Given the description of an element on the screen output the (x, y) to click on. 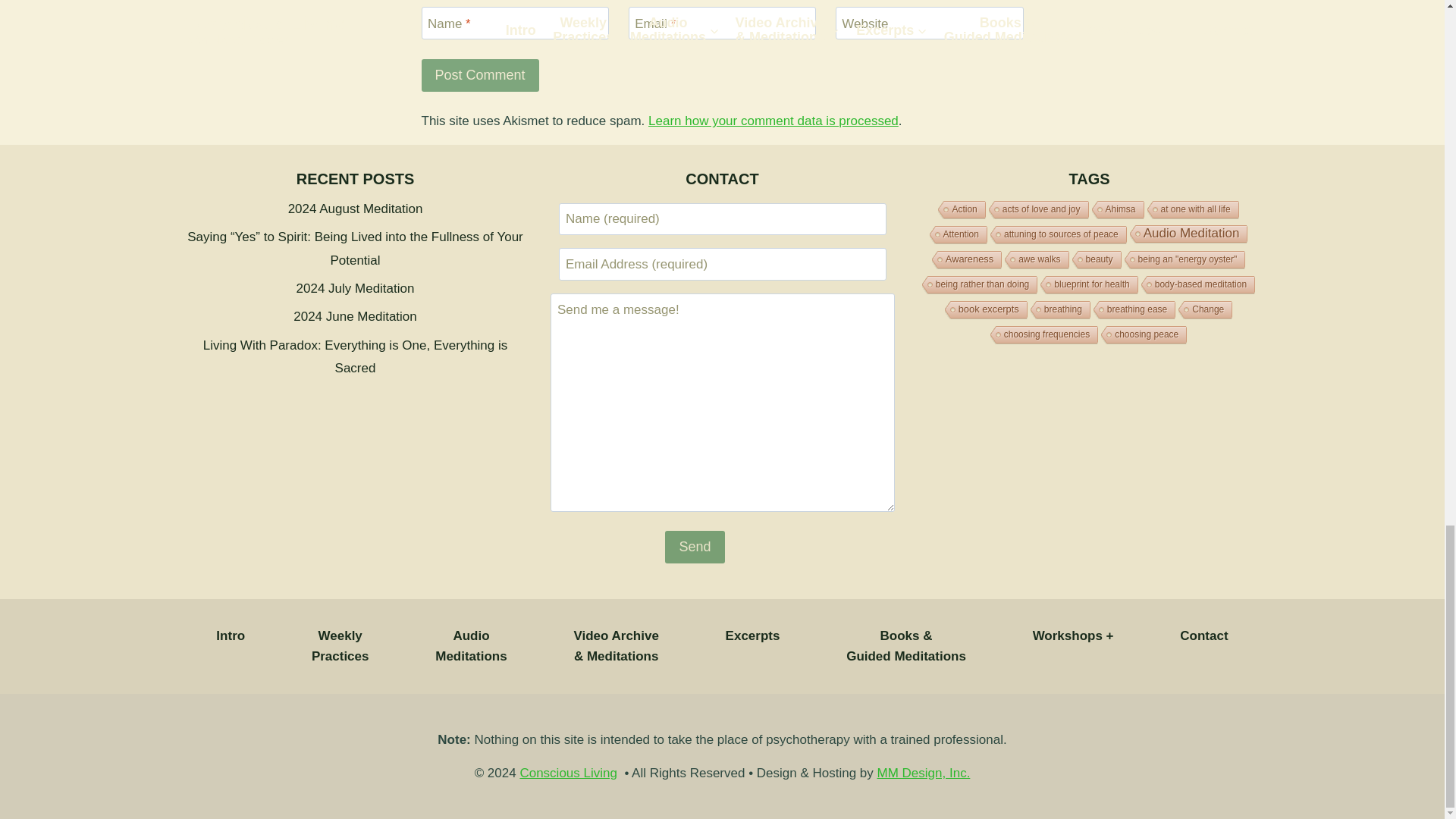
Weekly Practices  in Conscious Living (340, 645)
Send (694, 546)
Workshops and Other Offerings (1073, 635)
Post Comment (480, 74)
